Given the description of an element on the screen output the (x, y) to click on. 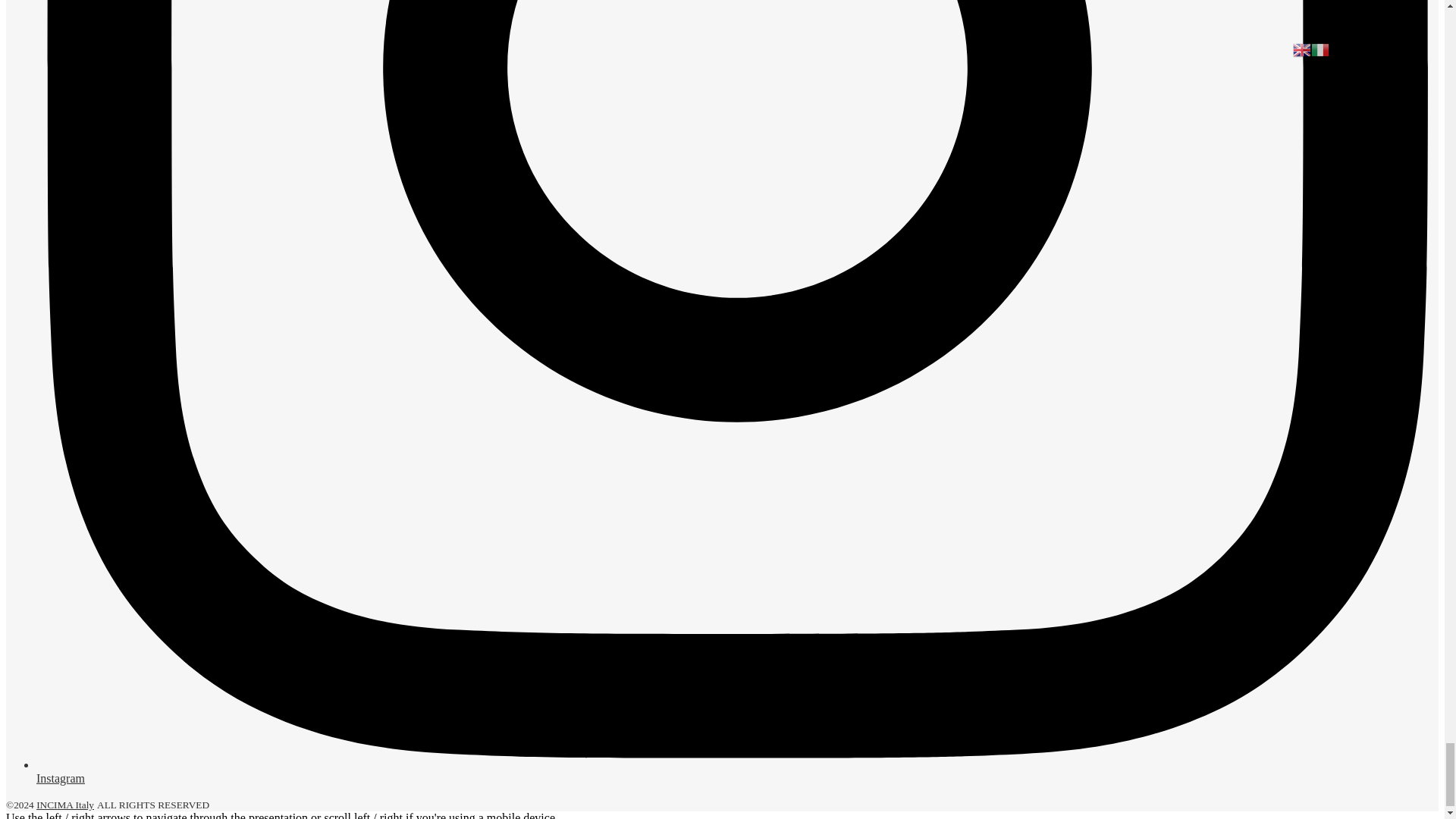
INCIMA Italy (65, 804)
